Given the description of an element on the screen output the (x, y) to click on. 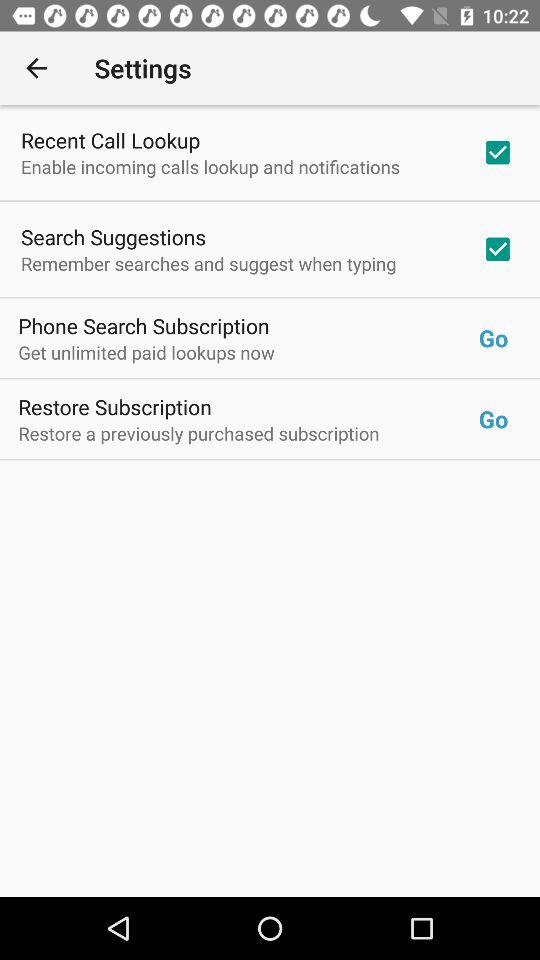
launch icon below the enable incoming calls icon (113, 236)
